Given the description of an element on the screen output the (x, y) to click on. 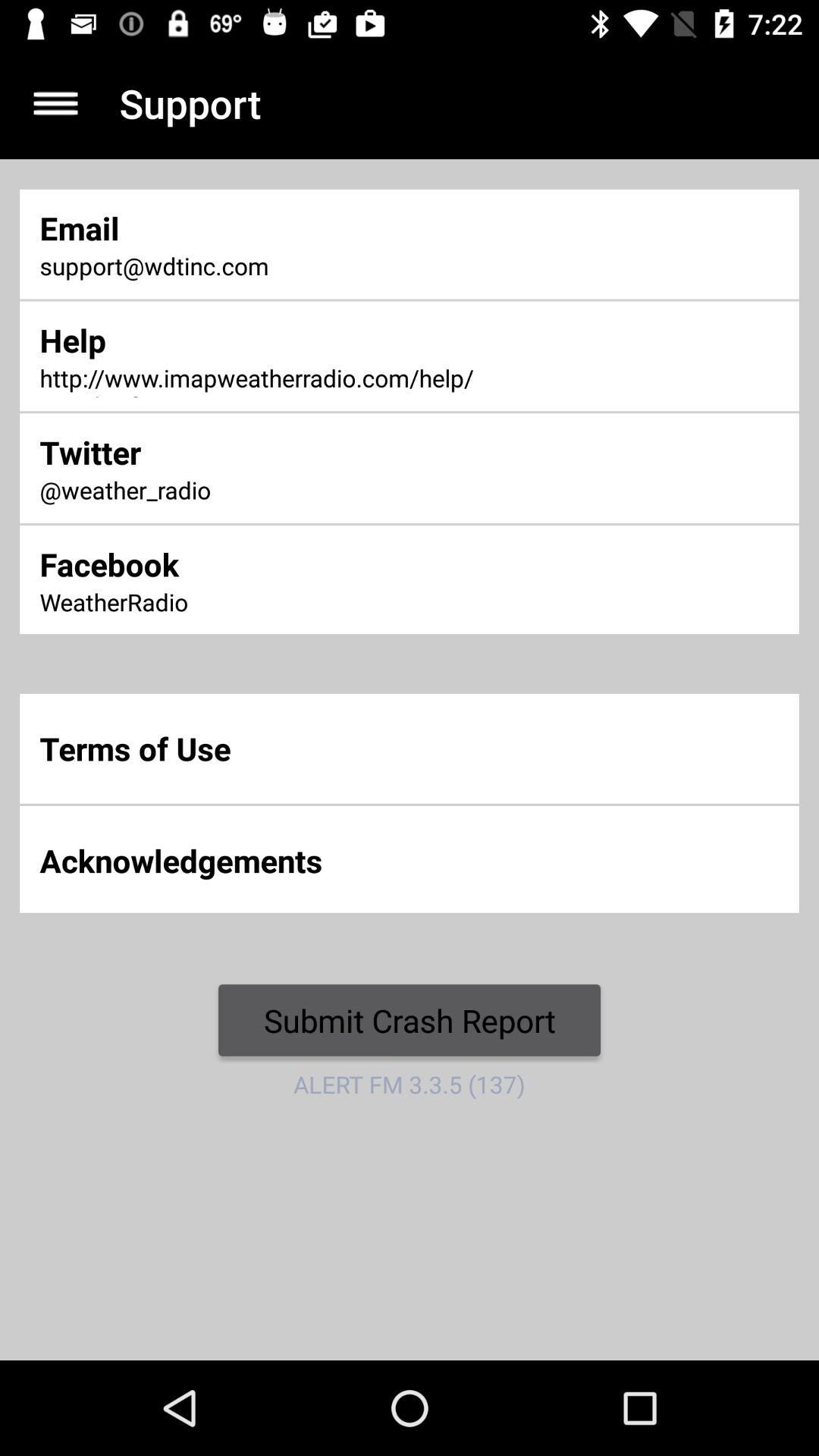
click icon above weatherradio (272, 563)
